Given the description of an element on the screen output the (x, y) to click on. 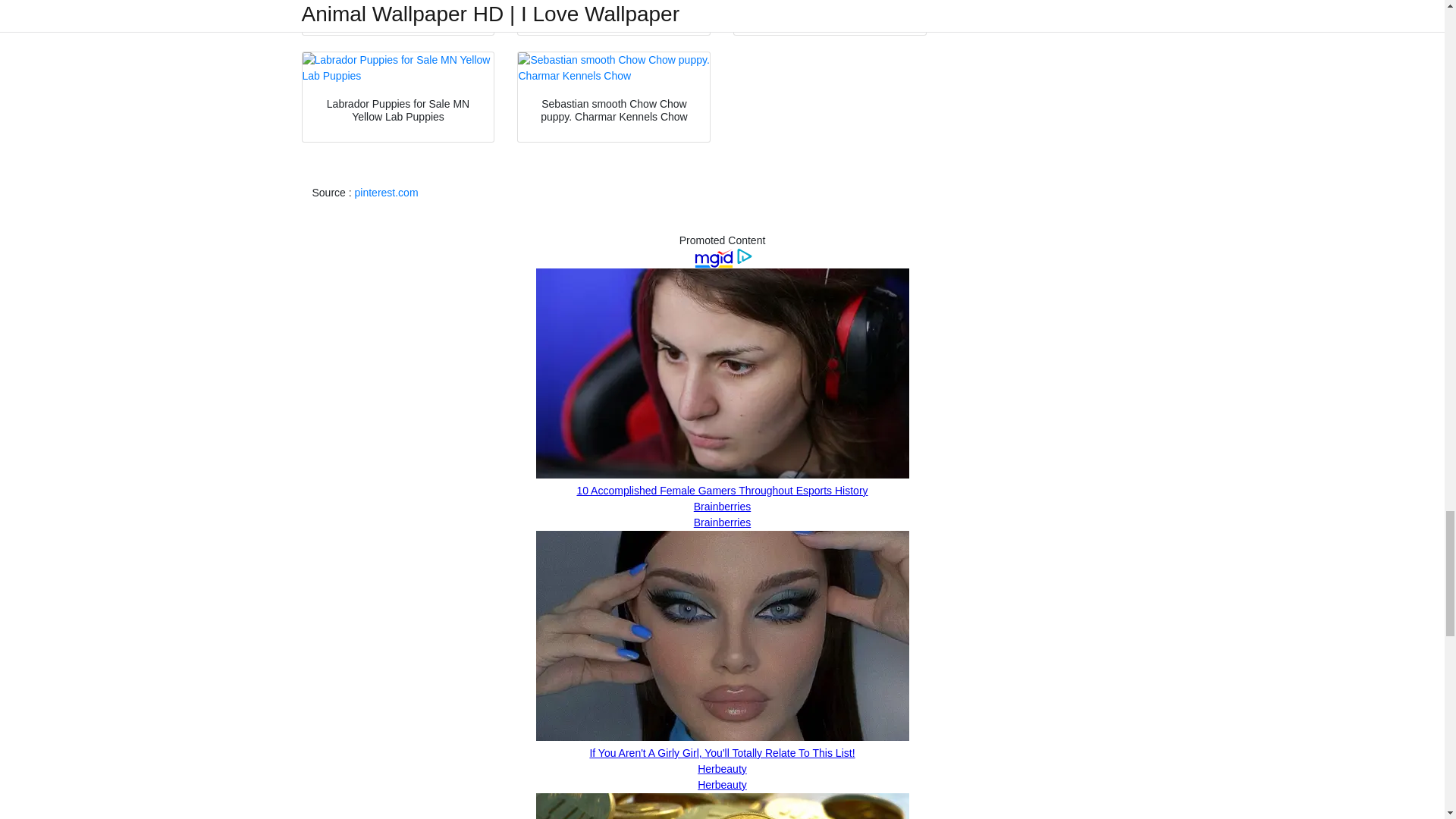
pinterest.com (387, 192)
